Given the description of an element on the screen output the (x, y) to click on. 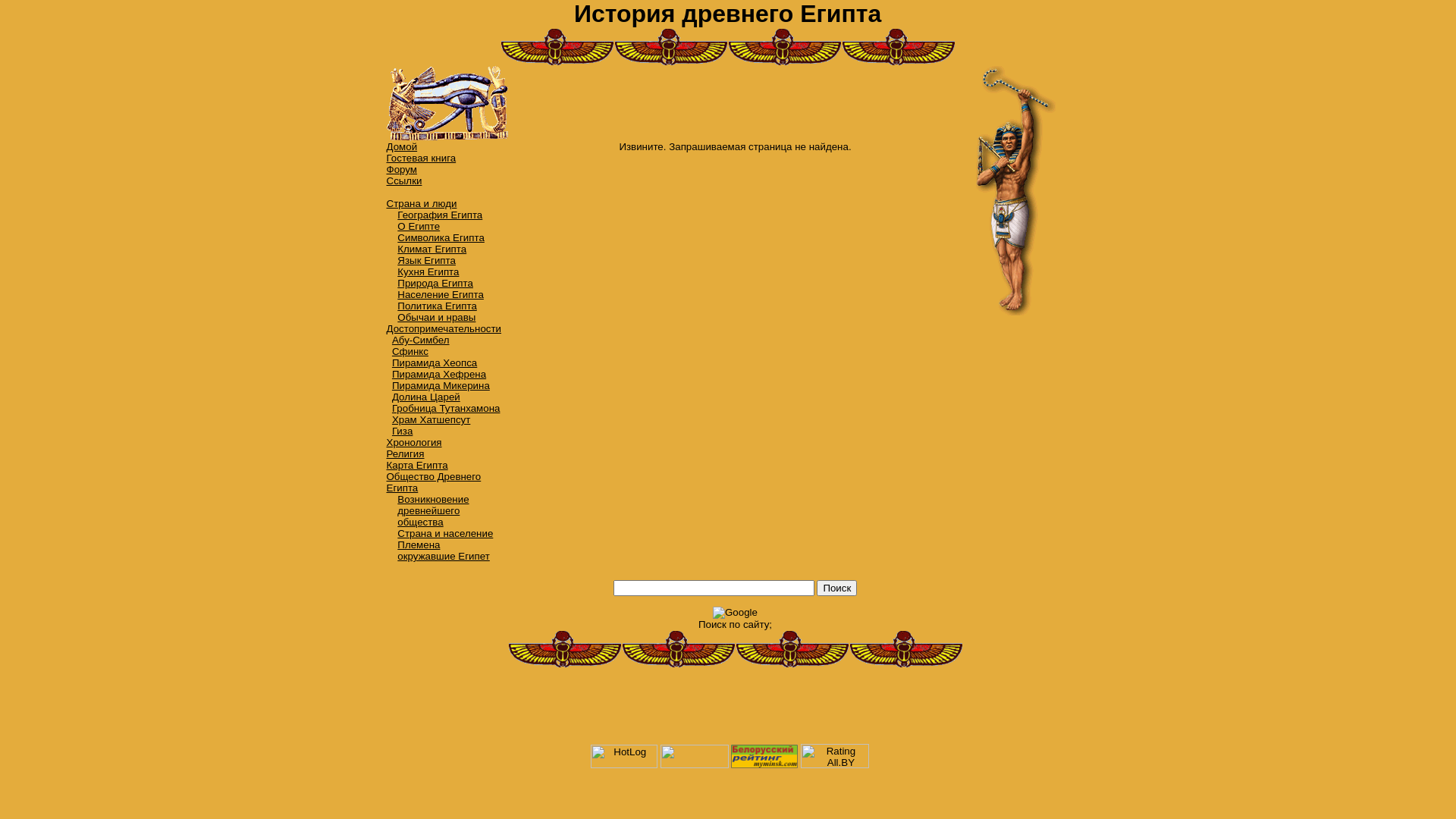
Advertisement Element type: hover (735, 102)
Advertisement Element type: hover (1008, 542)
